Given the description of an element on the screen output the (x, y) to click on. 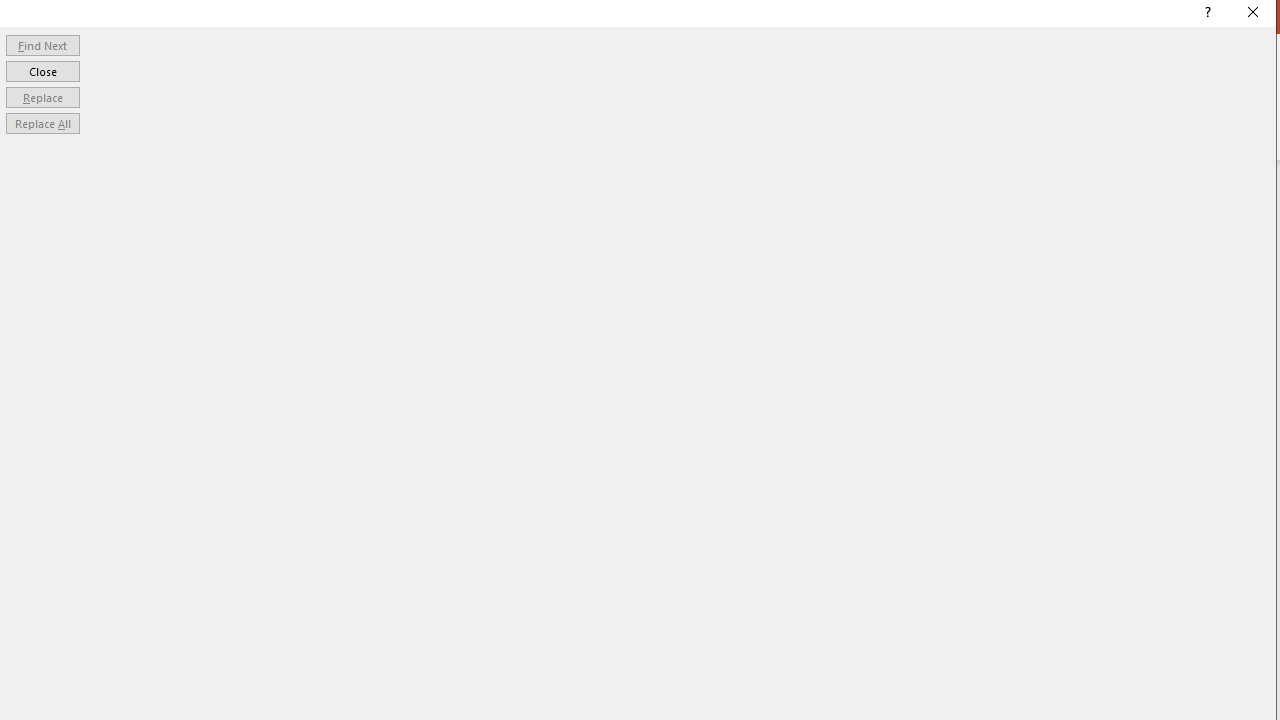
Replace All (42, 123)
Find Next (42, 44)
Replace (42, 96)
